Given the description of an element on the screen output the (x, y) to click on. 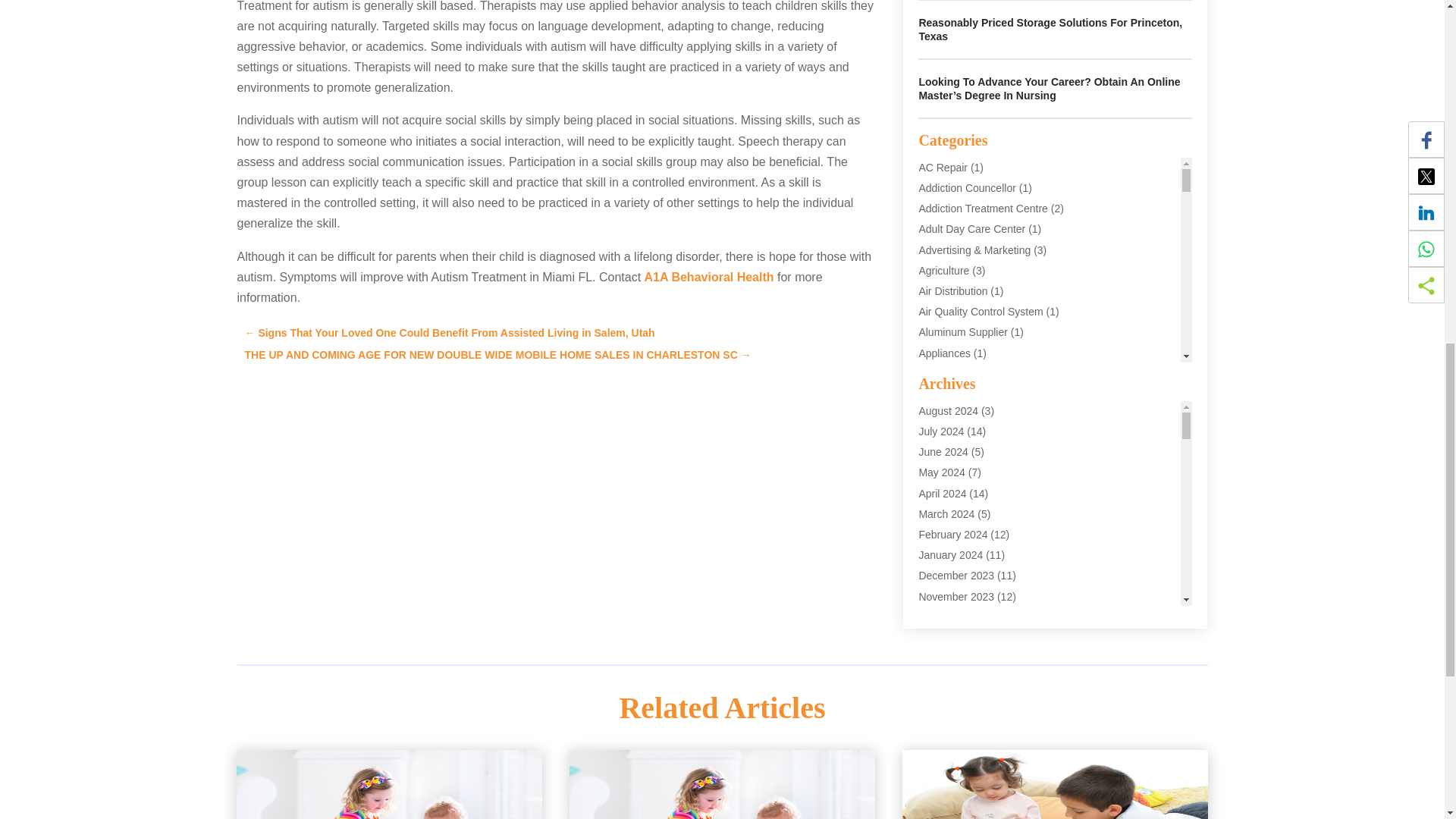
Assisted Living (953, 435)
Aluminum Supplier (962, 331)
AC Repair (943, 167)
Audio Installation (958, 455)
Asbestos (940, 394)
Agriculture (943, 270)
Appliances (944, 353)
Adult Day Care Center (971, 228)
Addiction Councellor (966, 187)
Reasonably Priced Storage Solutions For Princeton, Texas (1050, 29)
